Given the description of an element on the screen output the (x, y) to click on. 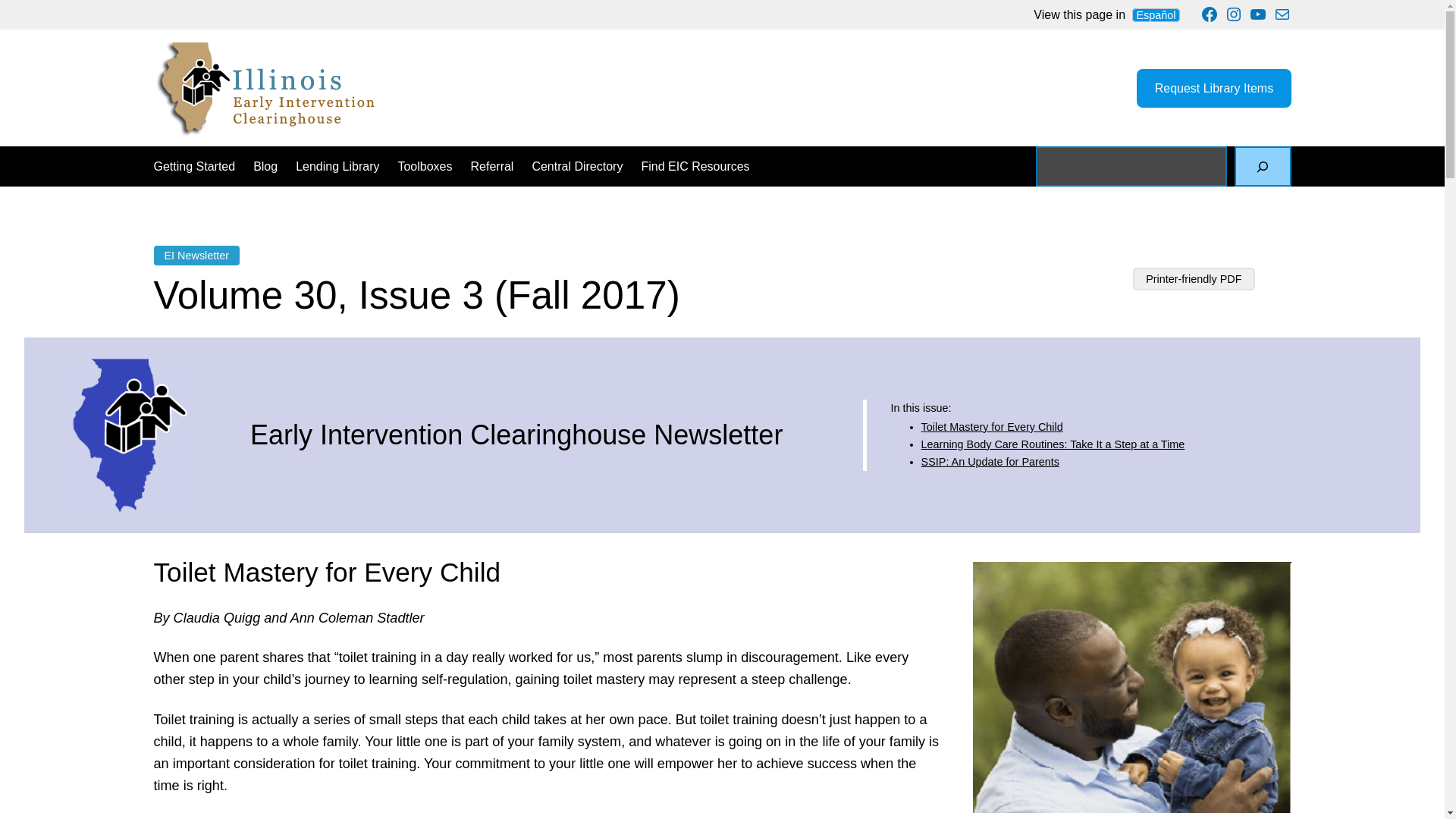
Learning Body Care Routines: Take It a Step at a Time (1053, 444)
Getting Started (193, 166)
Printer-friendly PDF (1192, 278)
Find EIC Resources (694, 166)
EI Newsletter (196, 255)
Central Directory (577, 166)
Mail (1281, 13)
Request Library Items (1213, 87)
SSIP: An Update for Parents (990, 461)
Referral (491, 166)
